Given the description of an element on the screen output the (x, y) to click on. 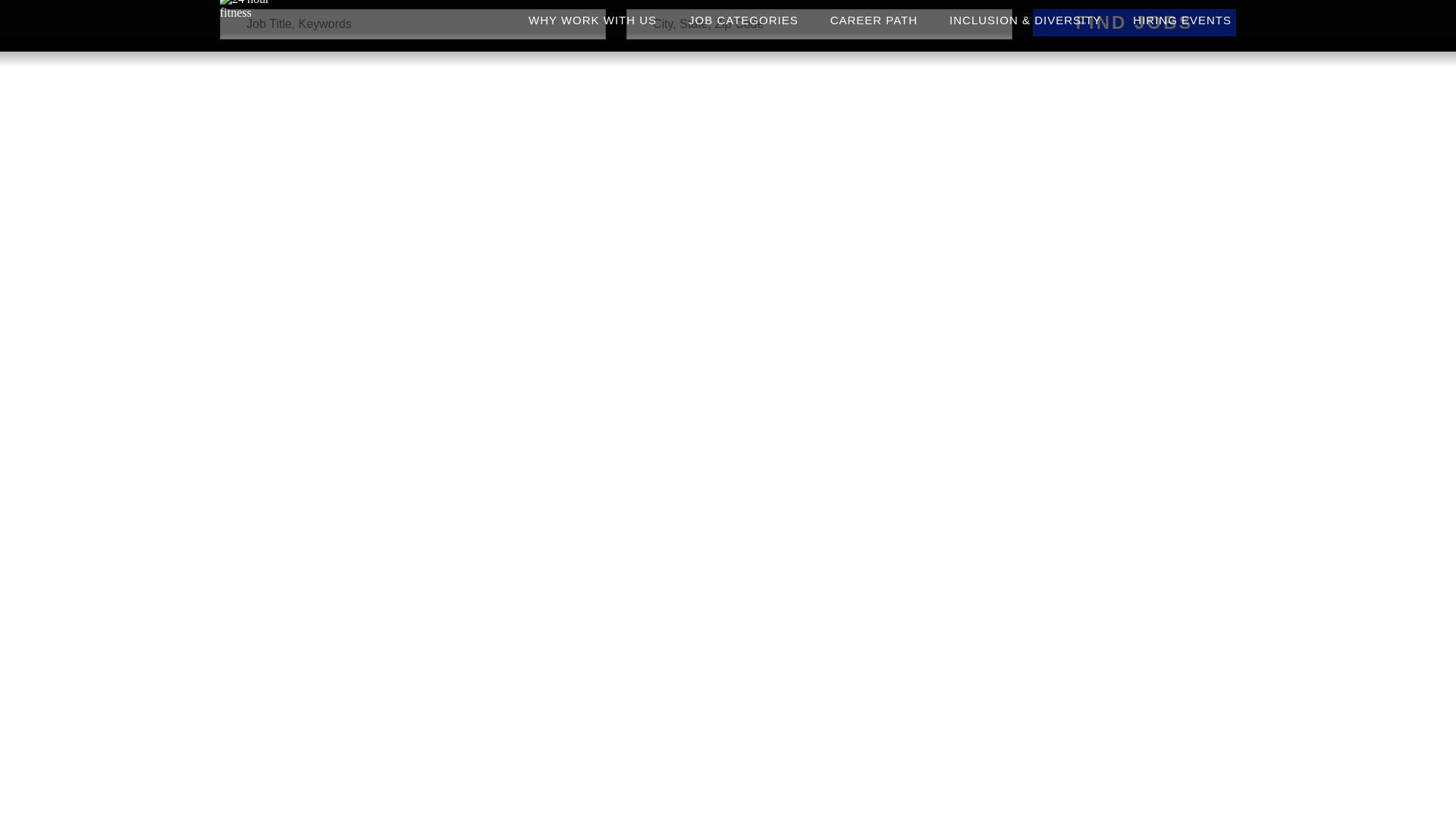
WHY WORK WITH US (592, 13)
Submit Search (1134, 22)
JOB CATEGORIES (743, 13)
Find Jobs (1134, 22)
Find Jobs (1134, 22)
CAREER PATH (873, 13)
Search Location (818, 24)
HIRING EVENTS (1182, 13)
Search Phrase (412, 24)
